Given the description of an element on the screen output the (x, y) to click on. 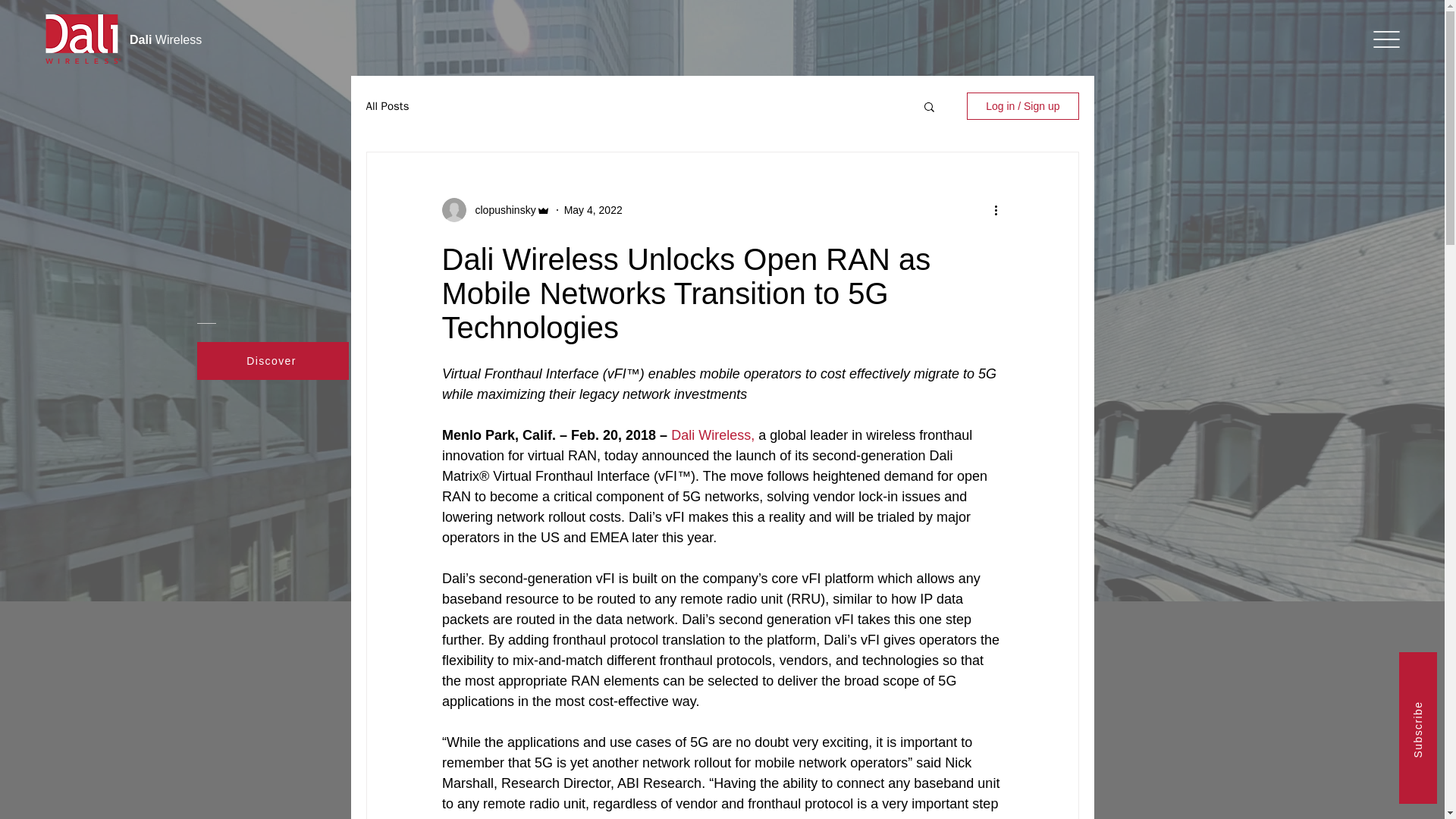
All Posts (387, 105)
Dali Wireless, (712, 435)
Discover (272, 361)
Dali Wireless (165, 39)
May 4, 2022 (593, 209)
clopushinsky (500, 209)
